Given the description of an element on the screen output the (x, y) to click on. 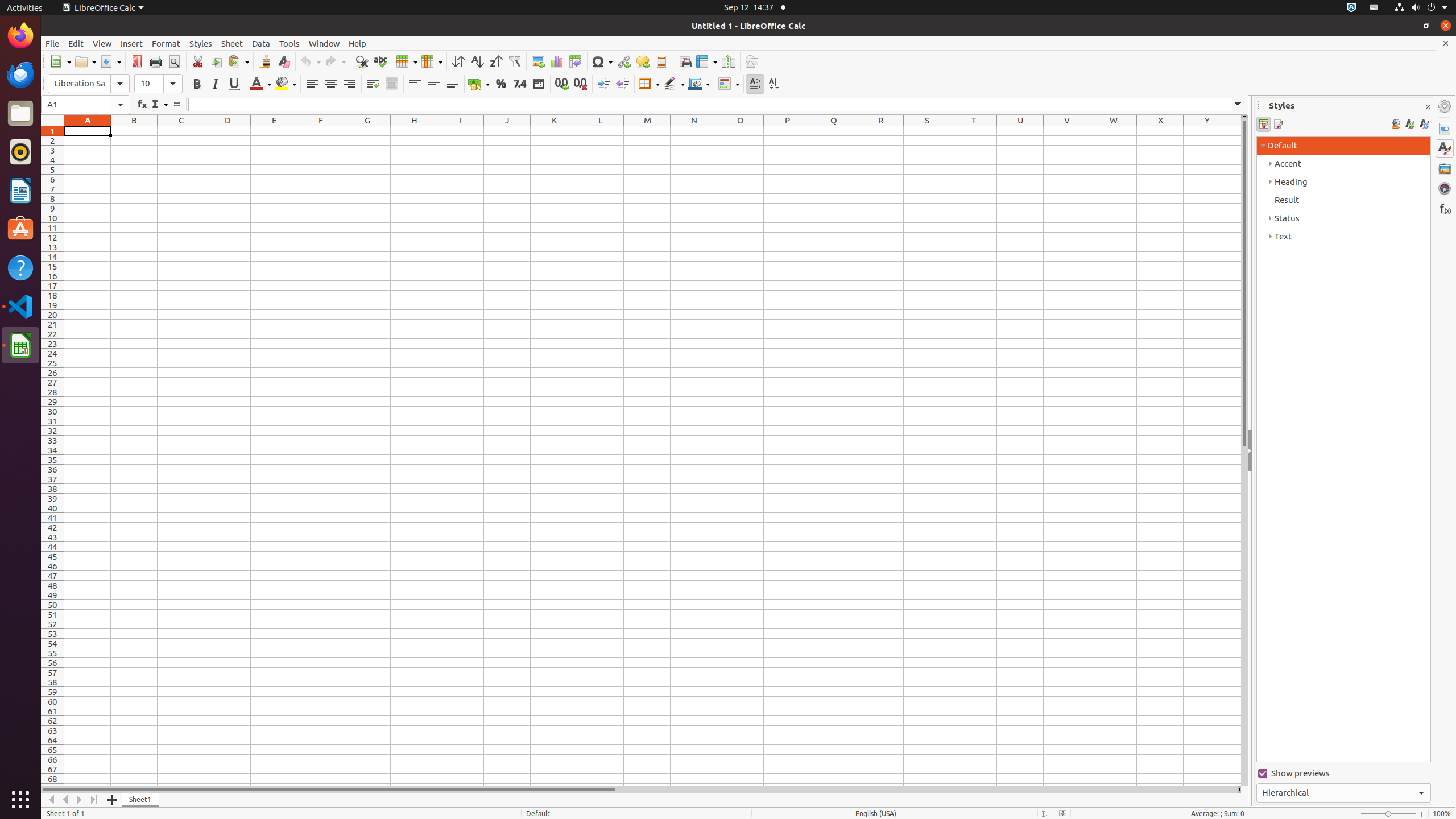
Freeze Rows and Columns Element type: push-button (705, 61)
Page Styles Element type: push-button (1277, 123)
Headers and Footers Element type: push-button (660, 61)
New Style from Selection Element type: push-button (1409, 123)
Files Element type: push-button (20, 113)
